Given the description of an element on the screen output the (x, y) to click on. 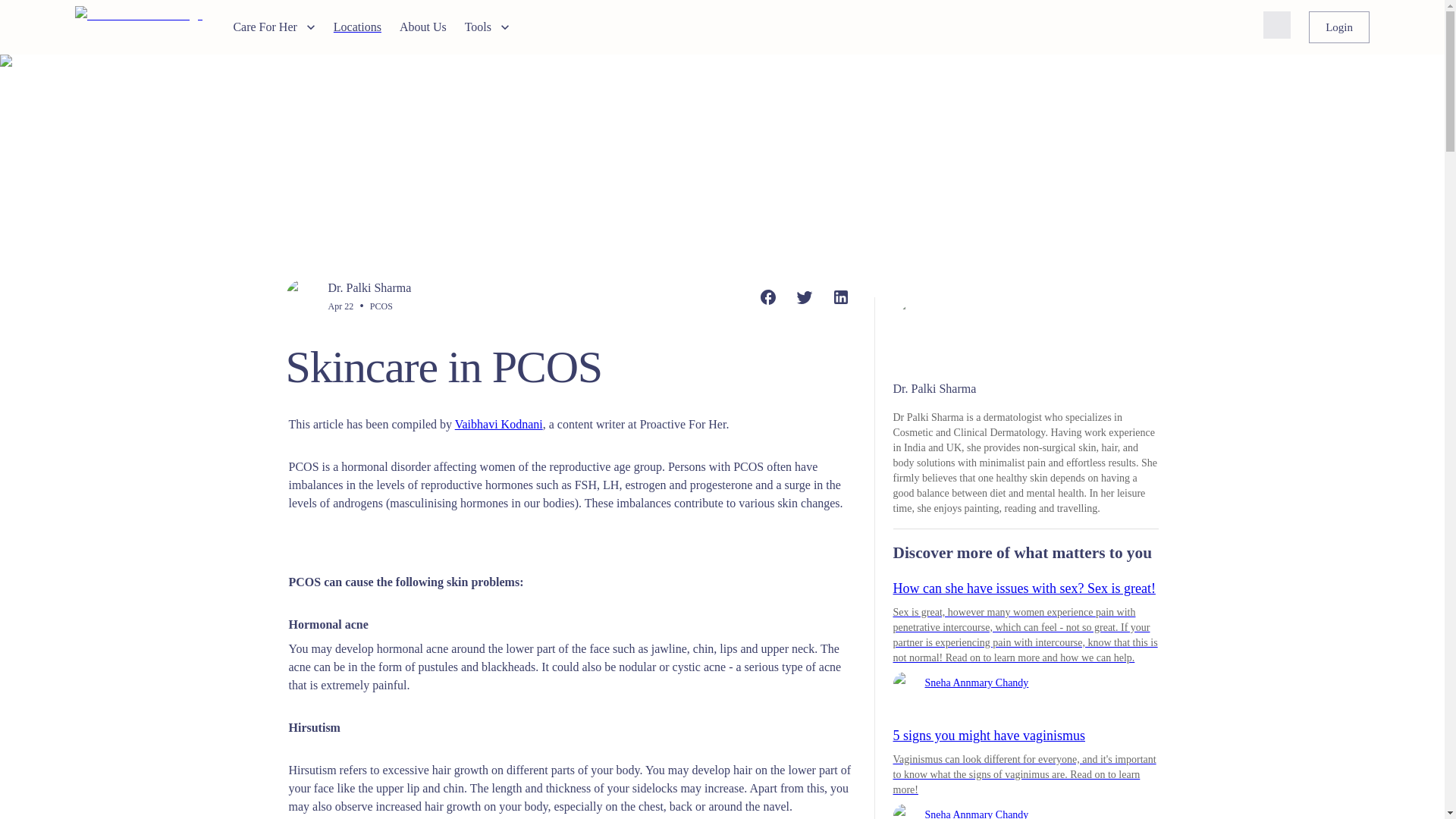
Login (1339, 27)
Tools (486, 27)
Care For Her (273, 27)
About Us (422, 27)
Vaibhavi Kodnani (498, 423)
Locations (357, 27)
